Given the description of an element on the screen output the (x, y) to click on. 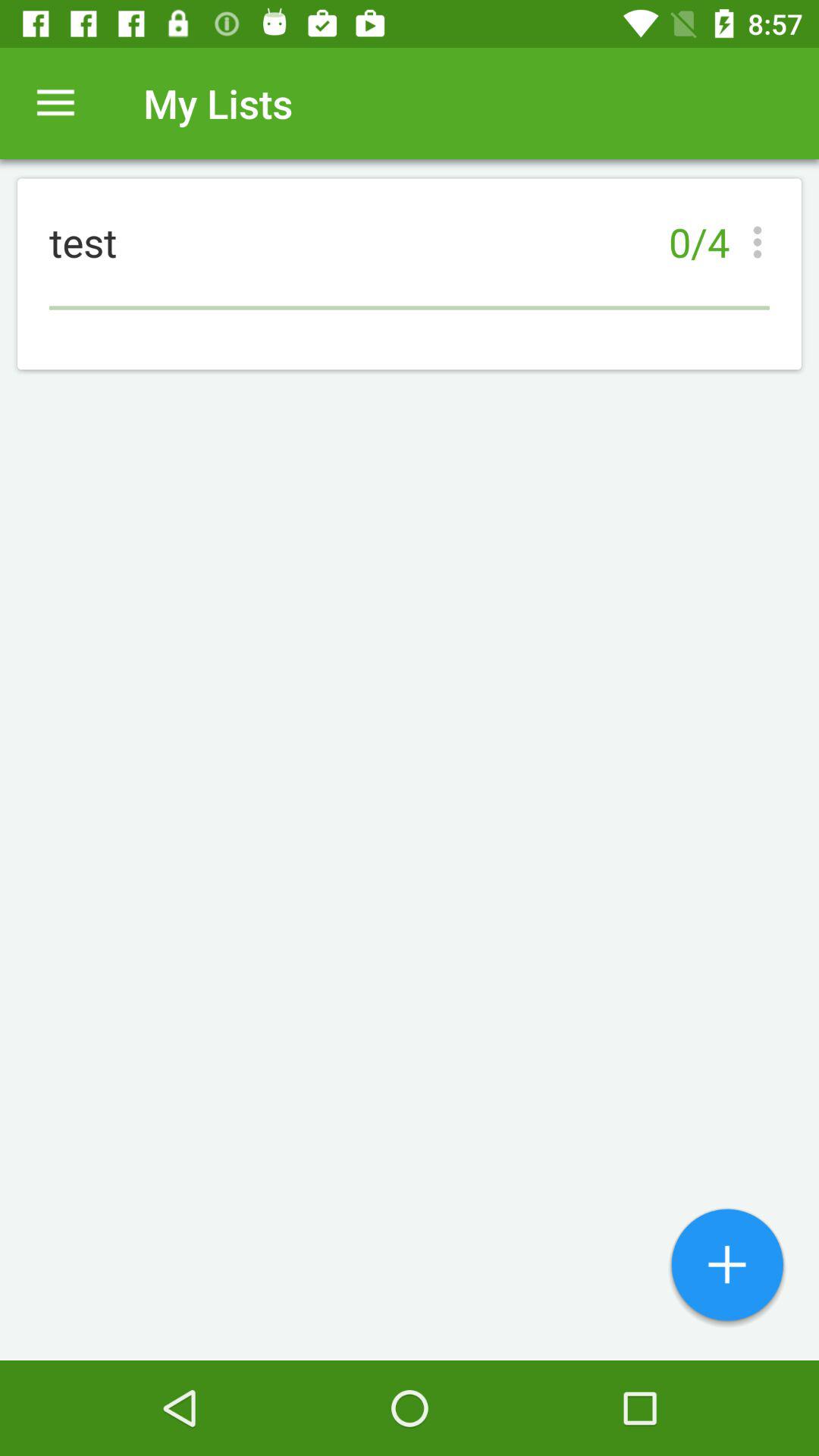
tap the item at the bottom right corner (727, 1266)
